Given the description of an element on the screen output the (x, y) to click on. 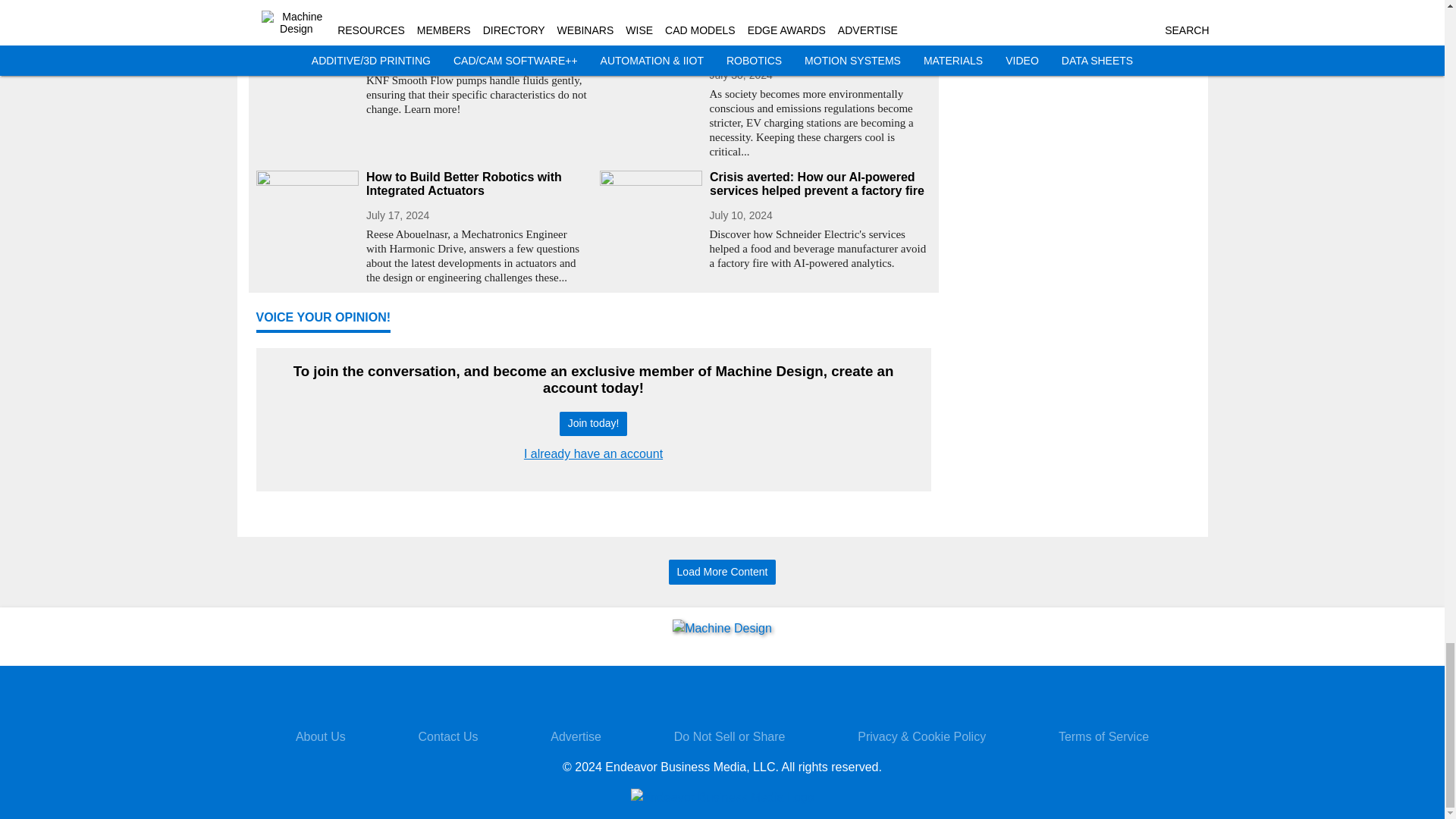
How to Build Better Robotics with Integrated Actuators (476, 184)
Join today! (593, 423)
Smooth Flow Pumps at a Closer Look (476, 37)
I already have an account (593, 453)
Pump Technology Keeps EV Charging Stations Cool (820, 43)
